Given the description of an element on the screen output the (x, y) to click on. 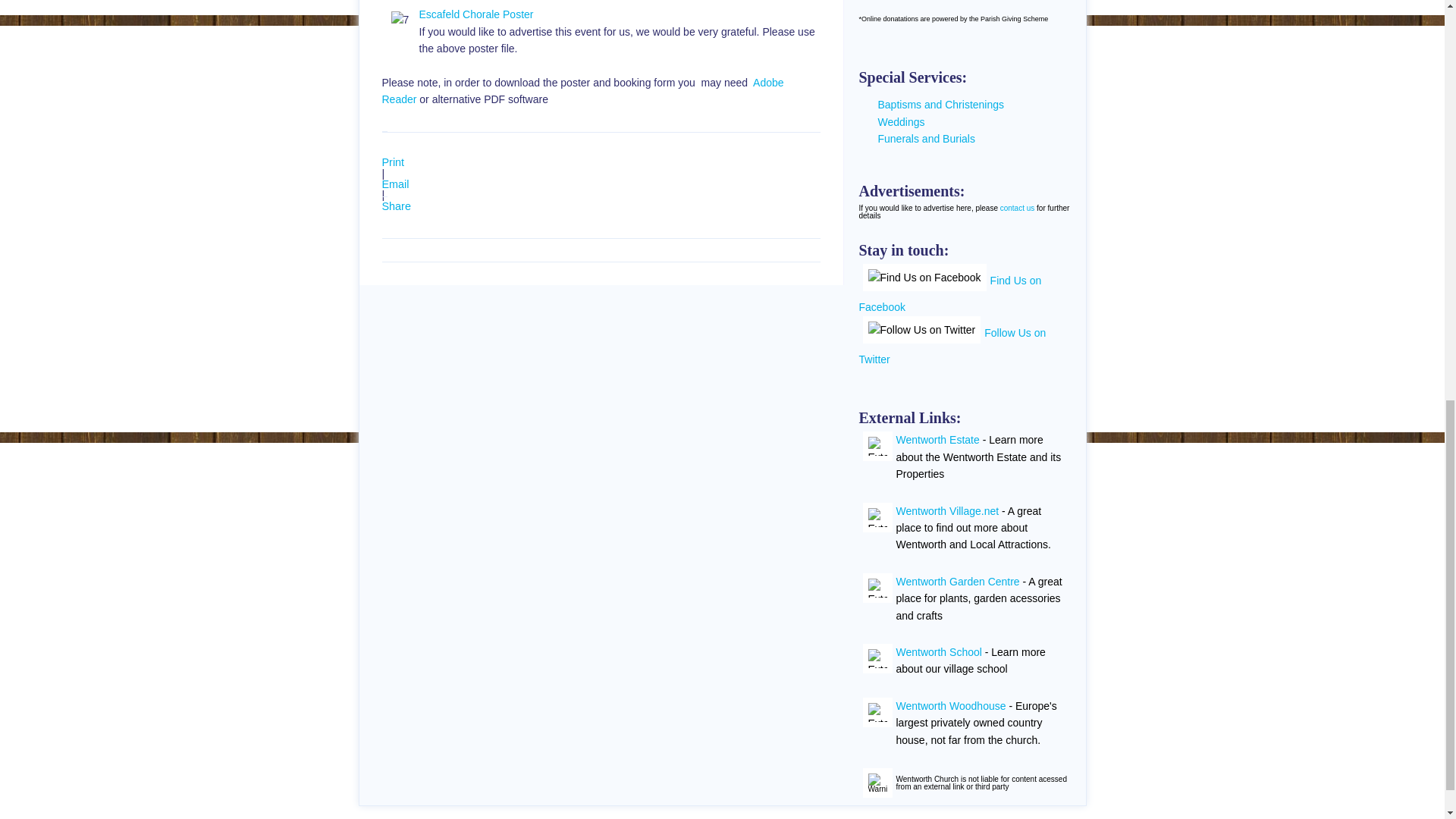
Booking Form (399, 20)
Wentworth Village Website (947, 510)
Wentworth Garden Centre (958, 581)
Share (395, 205)
Wentworth Village.net (947, 510)
Follow Us on Twitter (922, 329)
Wentworth Woodhouse (877, 712)
Wentworth Village (877, 517)
Escafeld Chorale Poster (475, 14)
Weddings (900, 121)
Adobe Reader (582, 90)
Find Us on Facebook (950, 293)
Harley Mission (877, 446)
Find Us on Facebook (925, 277)
Email (395, 184)
